Given the description of an element on the screen output the (x, y) to click on. 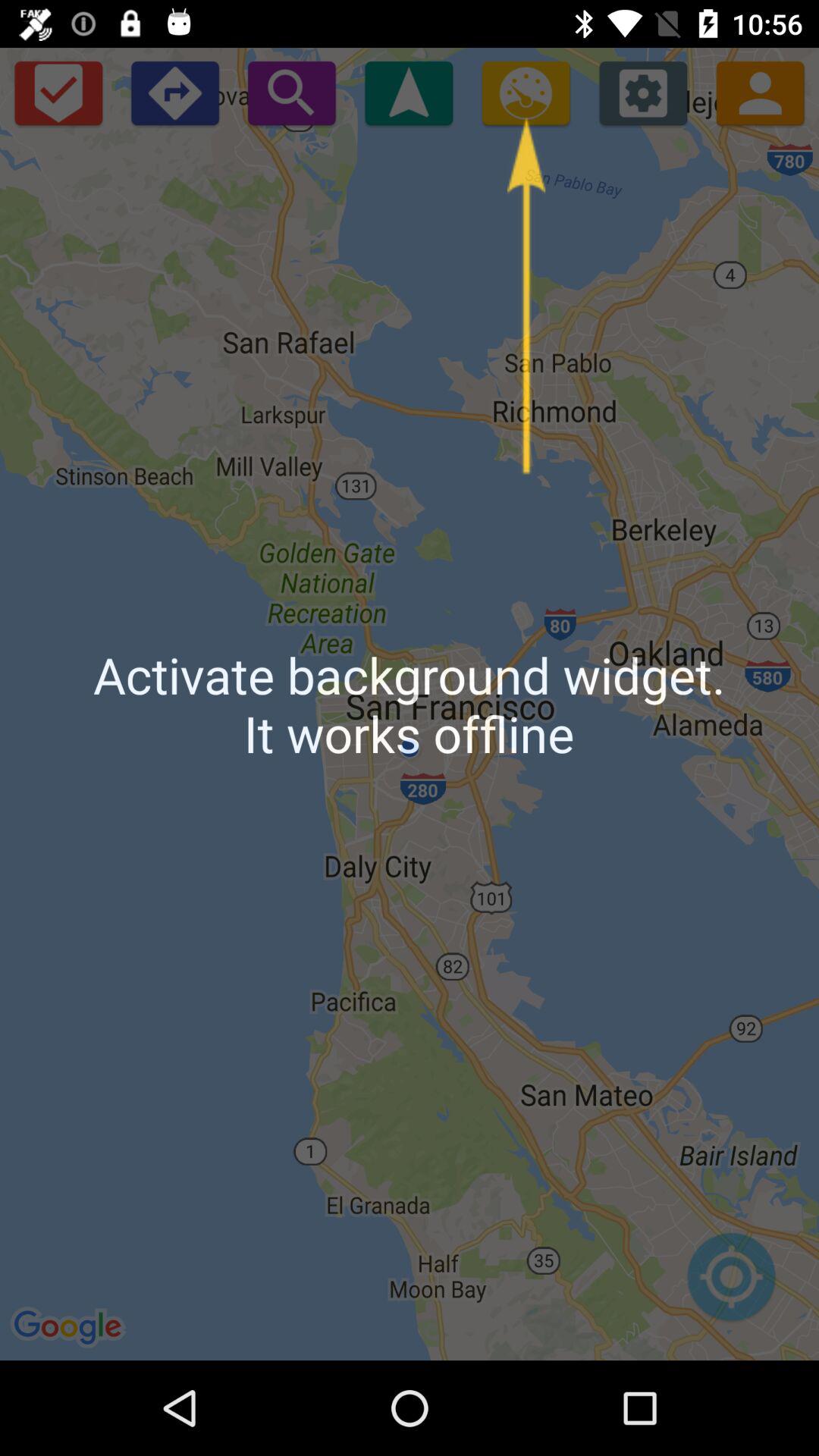
view your profile (760, 92)
